Given the description of an element on the screen output the (x, y) to click on. 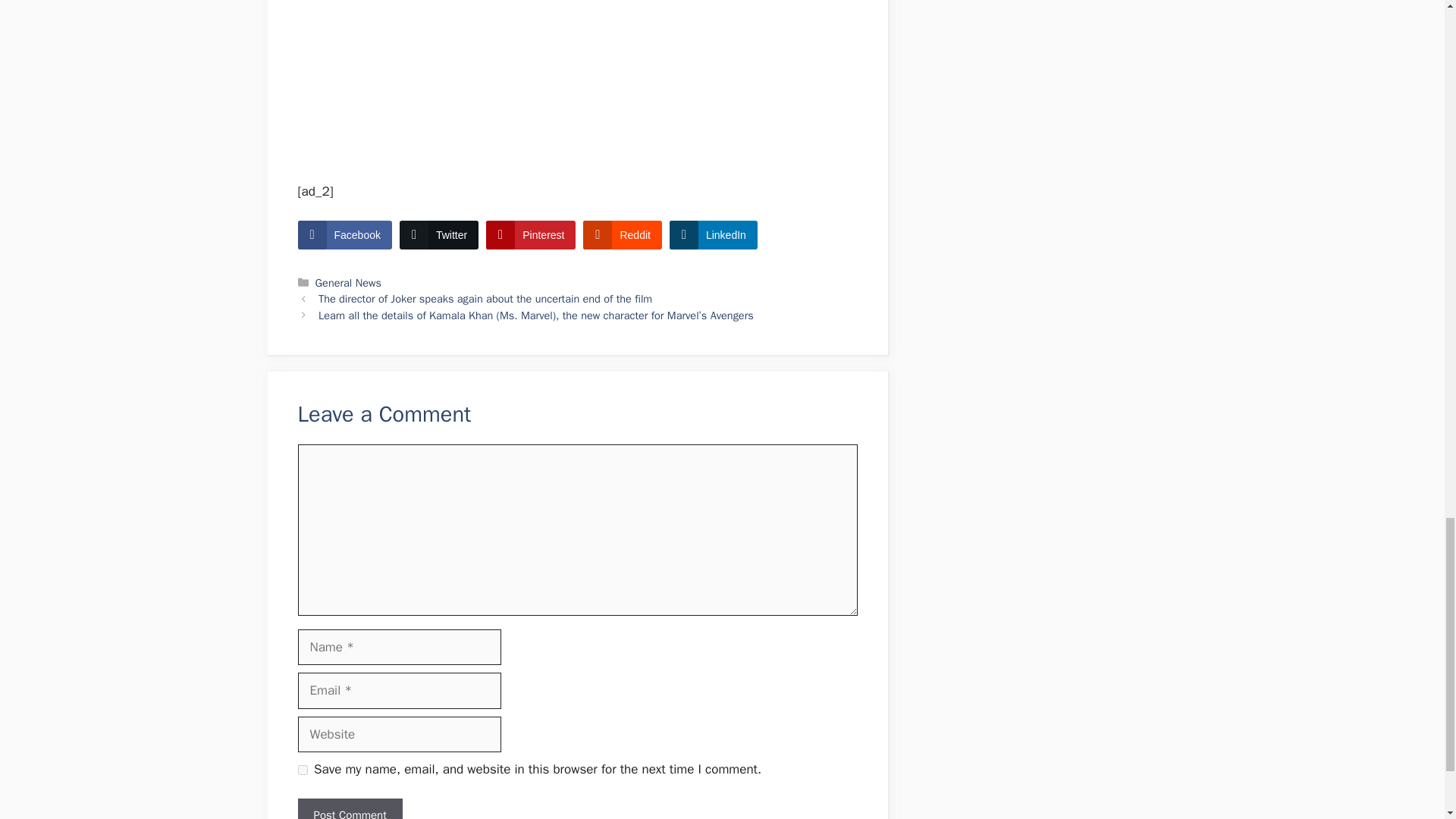
Facebook (344, 234)
yes (302, 769)
Twitter (438, 234)
LinkedIn (713, 234)
Pinterest (530, 234)
Reddit (622, 234)
Post Comment (349, 808)
General News (348, 282)
Post Comment (349, 808)
